Given the description of an element on the screen output the (x, y) to click on. 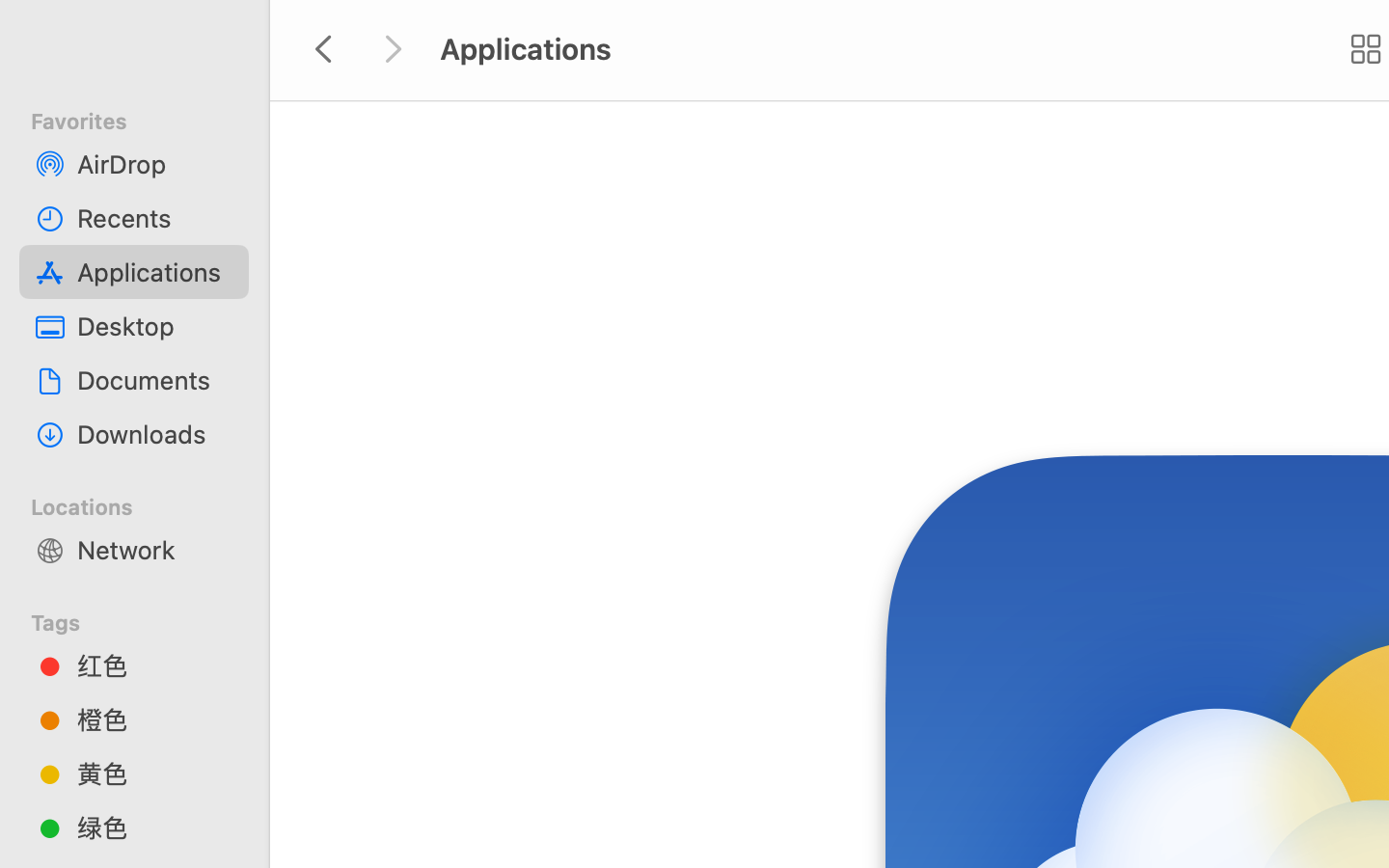
AirDrop Element type: AXStaticText (155, 163)
Locations Element type: AXStaticText (145, 504)
Applications Element type: AXStaticText (155, 271)
Tags Element type: AXStaticText (145, 619)
